Given the description of an element on the screen output the (x, y) to click on. 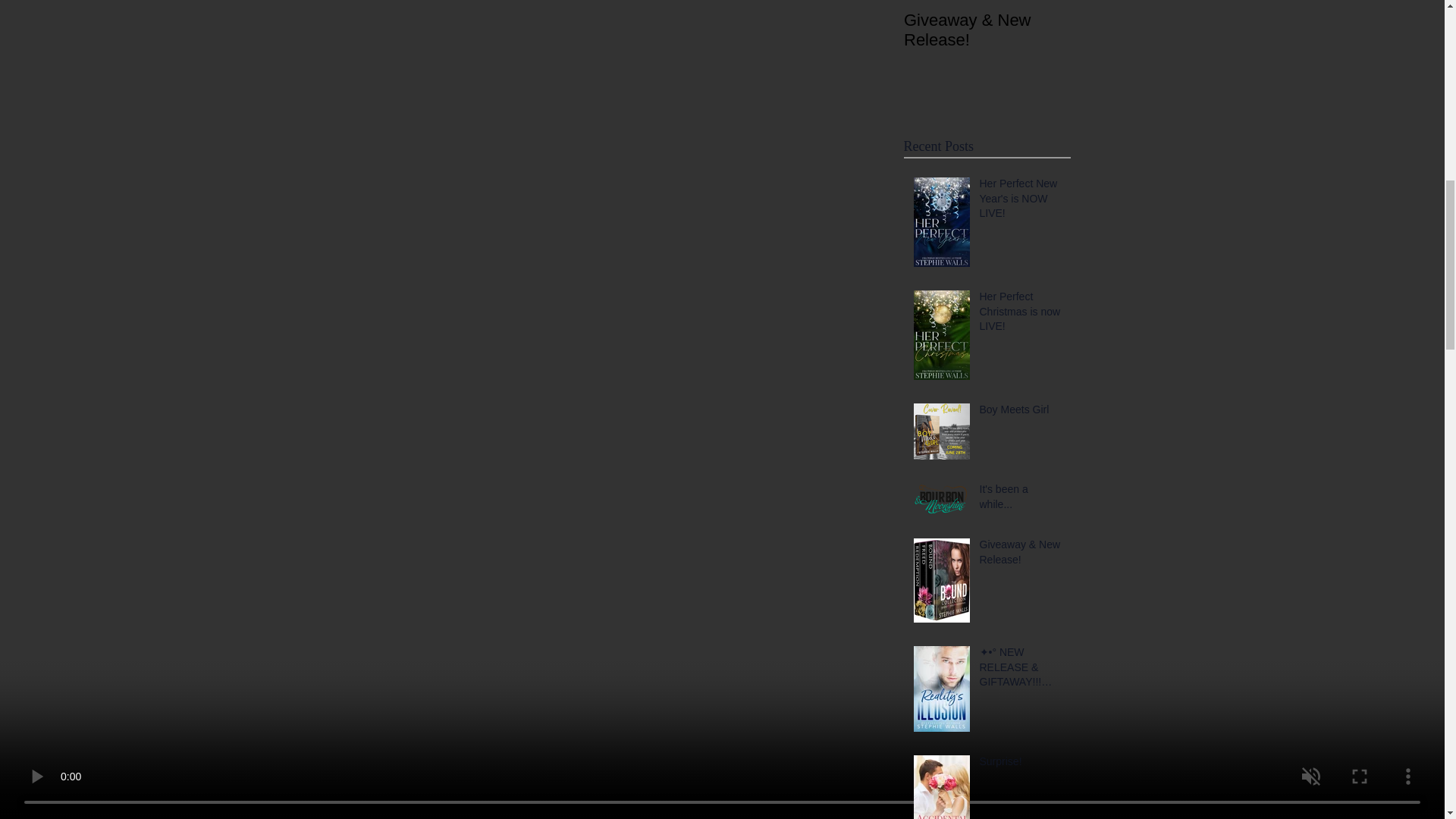
Boy Meets Girl (1020, 413)
It's been a while... (1020, 499)
Her Perfect New Year's is NOW LIVE! (1020, 201)
Surprise! (1020, 764)
Her Perfect Christmas is now LIVE! (1020, 314)
